Given the description of an element on the screen output the (x, y) to click on. 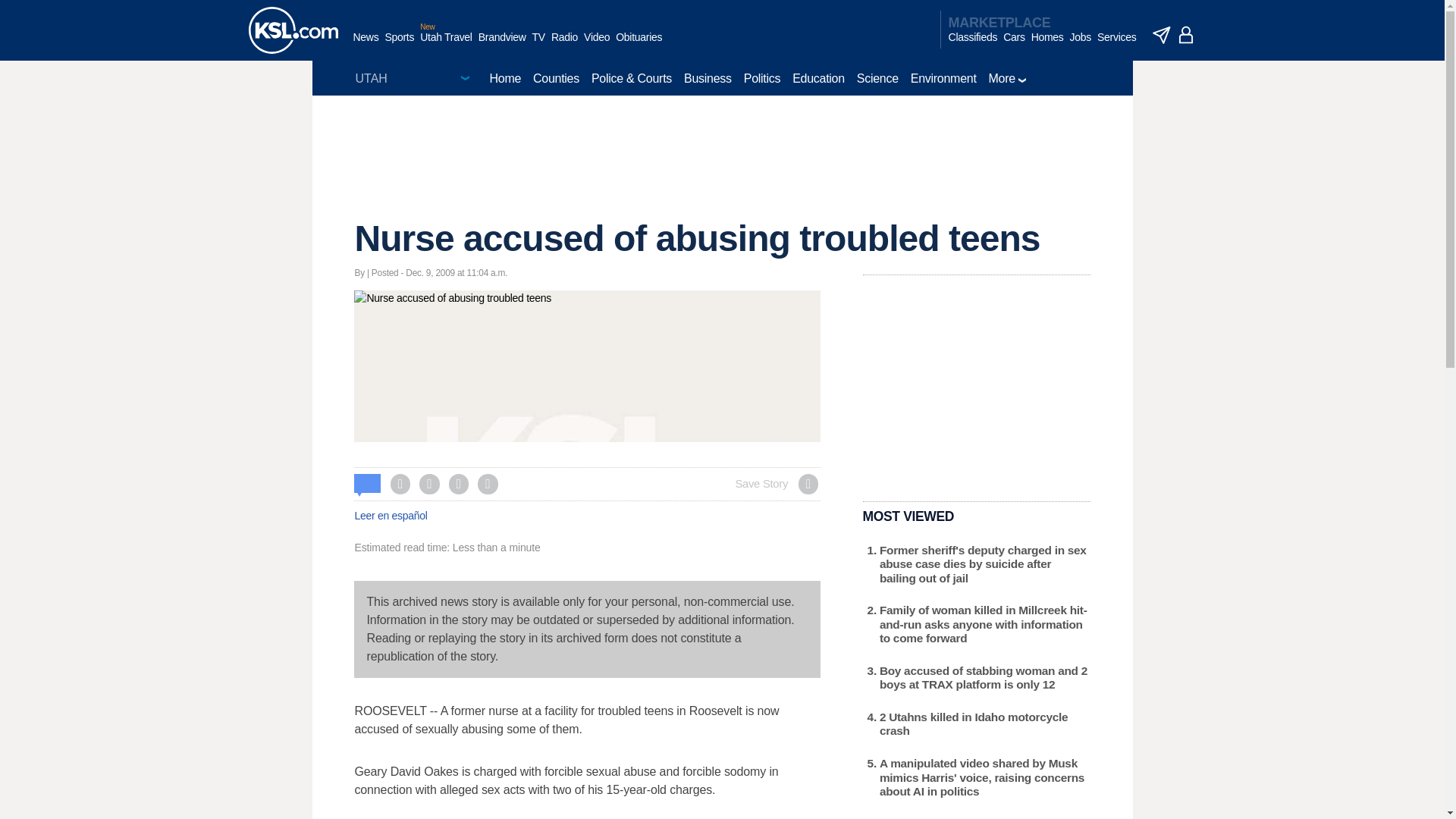
KSL homepage (292, 30)
account - logged out (1185, 34)
Utah Travel (445, 45)
KSL homepage (292, 29)
Brandview (502, 45)
Sports (398, 45)
